Given the description of an element on the screen output the (x, y) to click on. 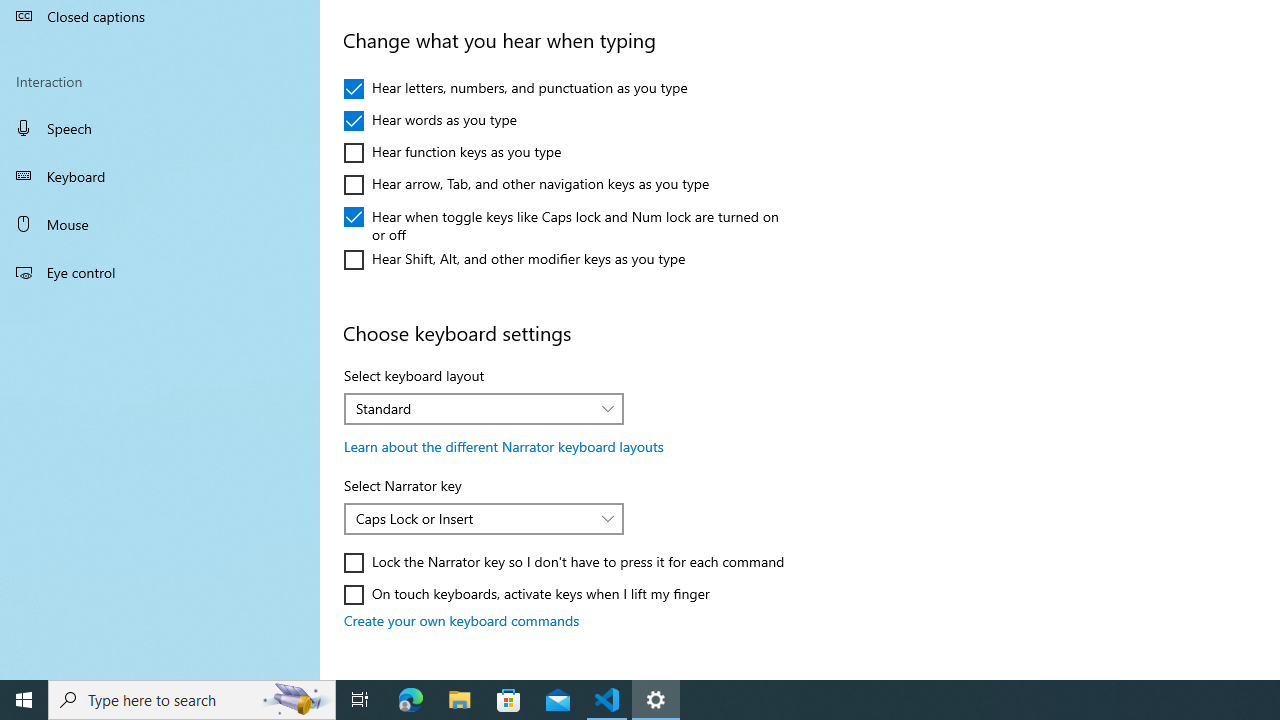
Caps Lock or Insert (473, 518)
Create your own keyboard commands (461, 620)
Hear arrow, Tab, and other navigation keys as you type (527, 184)
Select keyboard layout (484, 408)
Hear function keys as you type (452, 152)
Keyboard (160, 175)
On touch keyboards, activate keys when I lift my finger (527, 594)
Standard (473, 408)
Learn about the different Narrator keyboard layouts (504, 446)
